Given the description of an element on the screen output the (x, y) to click on. 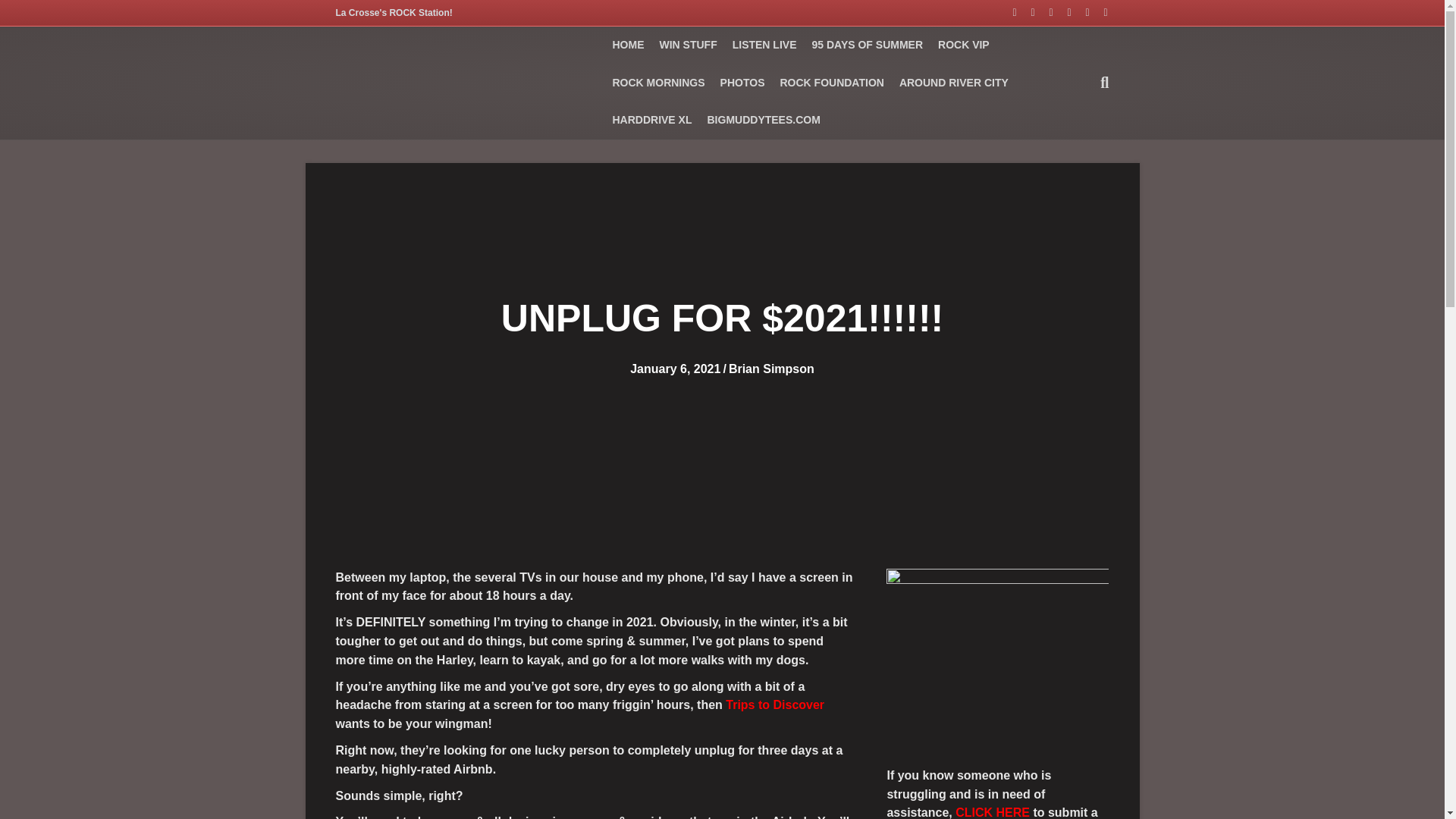
X-twitter (1097, 11)
LISTEN LIVE (765, 45)
Youtube (1024, 11)
Instagram (1042, 11)
95 DAYS OF SUMMER (866, 45)
ROCK VIP (963, 45)
Tiktok (1079, 11)
Facebook (1006, 11)
HOME (627, 45)
Email (1061, 11)
